Given the description of an element on the screen output the (x, y) to click on. 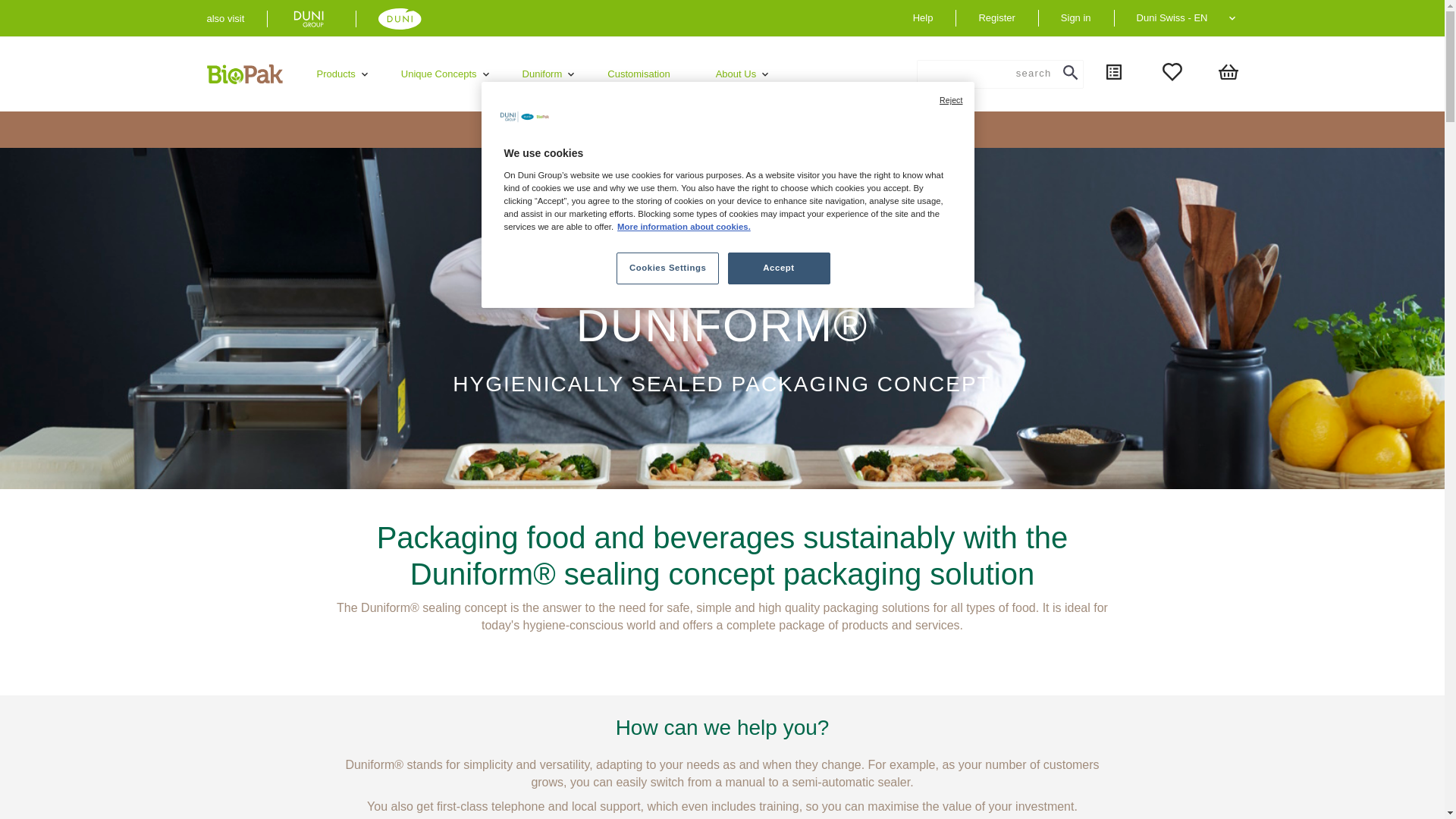
Shop online (311, 18)
Duni Swiss - EN (1191, 17)
Products (335, 74)
Help (922, 17)
Visit DUNI (400, 18)
Register (996, 17)
Sign in (1075, 17)
